Given the description of an element on the screen output the (x, y) to click on. 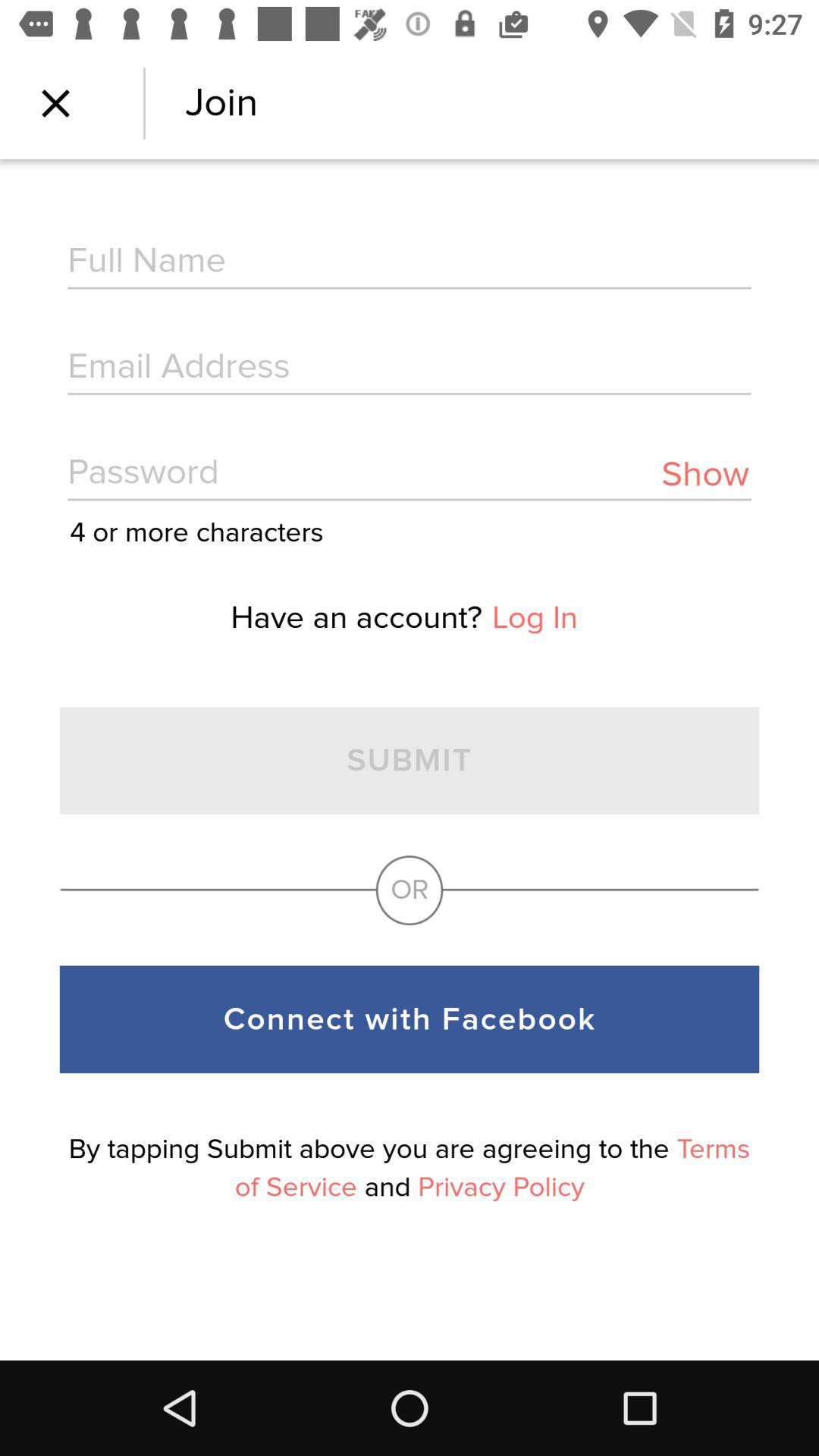
launch item next to the 4 or more item (705, 474)
